Given the description of an element on the screen output the (x, y) to click on. 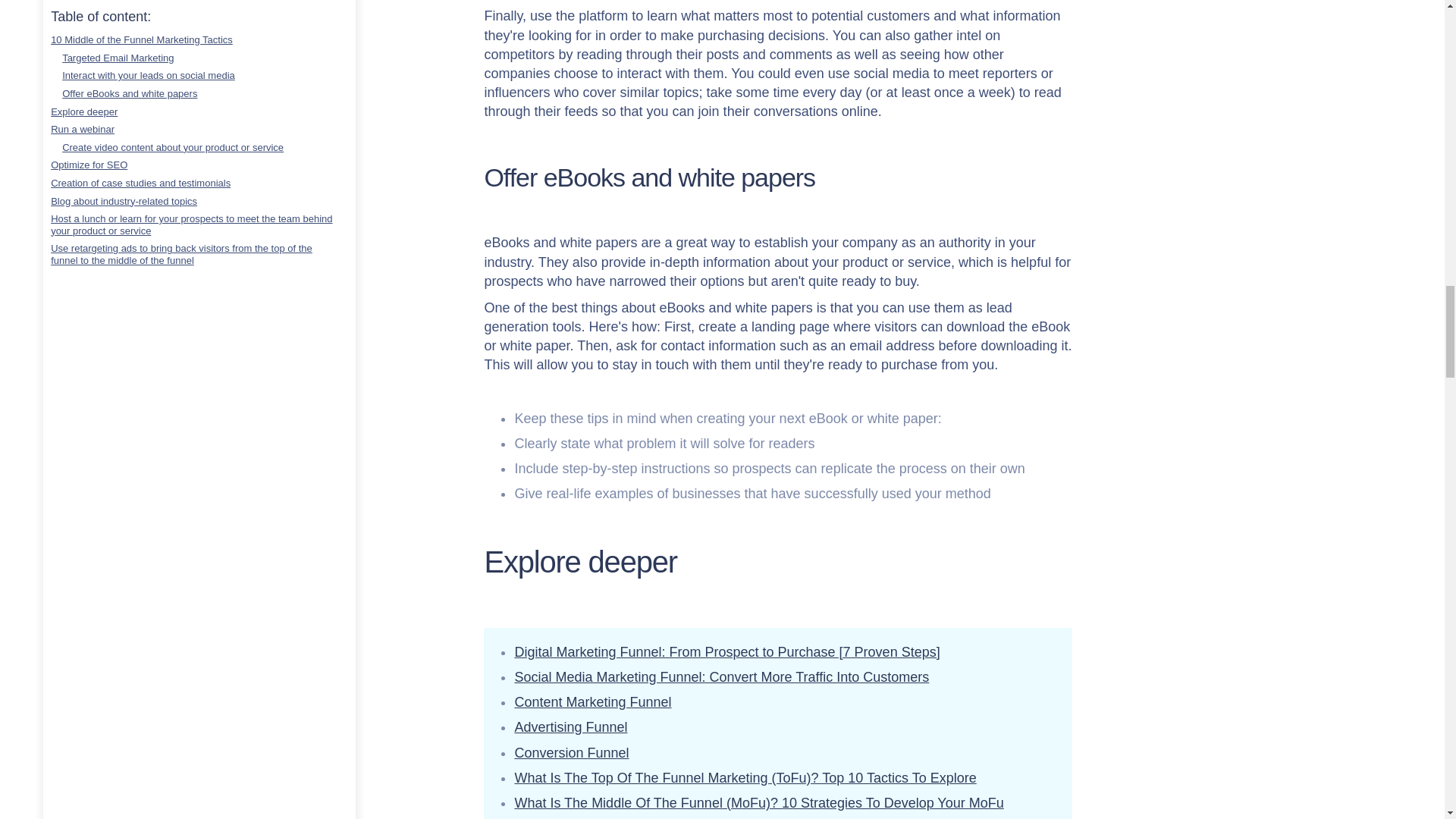
Conversion Funnel (570, 752)
Advertising Funnel (570, 726)
Content Marketing Funnel (592, 702)
